Given the description of an element on the screen output the (x, y) to click on. 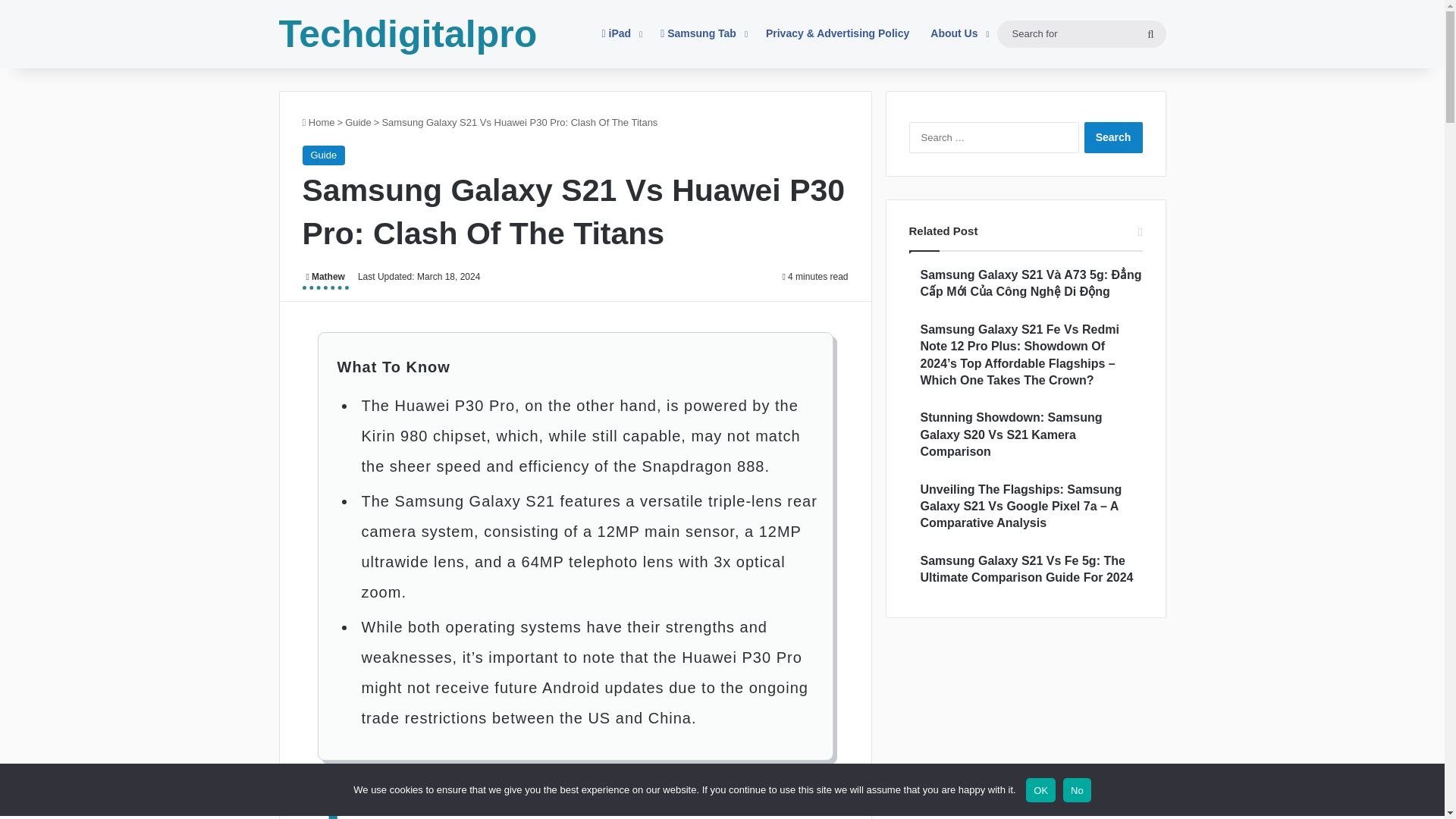
Search for (1150, 32)
Mathew (324, 278)
Techdigitalpro (408, 34)
Search (1113, 137)
Mathew (324, 278)
About Us (957, 33)
Guide (358, 122)
Search for (1080, 32)
Guide (323, 155)
Samsung Tab (702, 33)
Home (317, 122)
Techdigitalpro (408, 34)
Search (1113, 137)
